Given the description of an element on the screen output the (x, y) to click on. 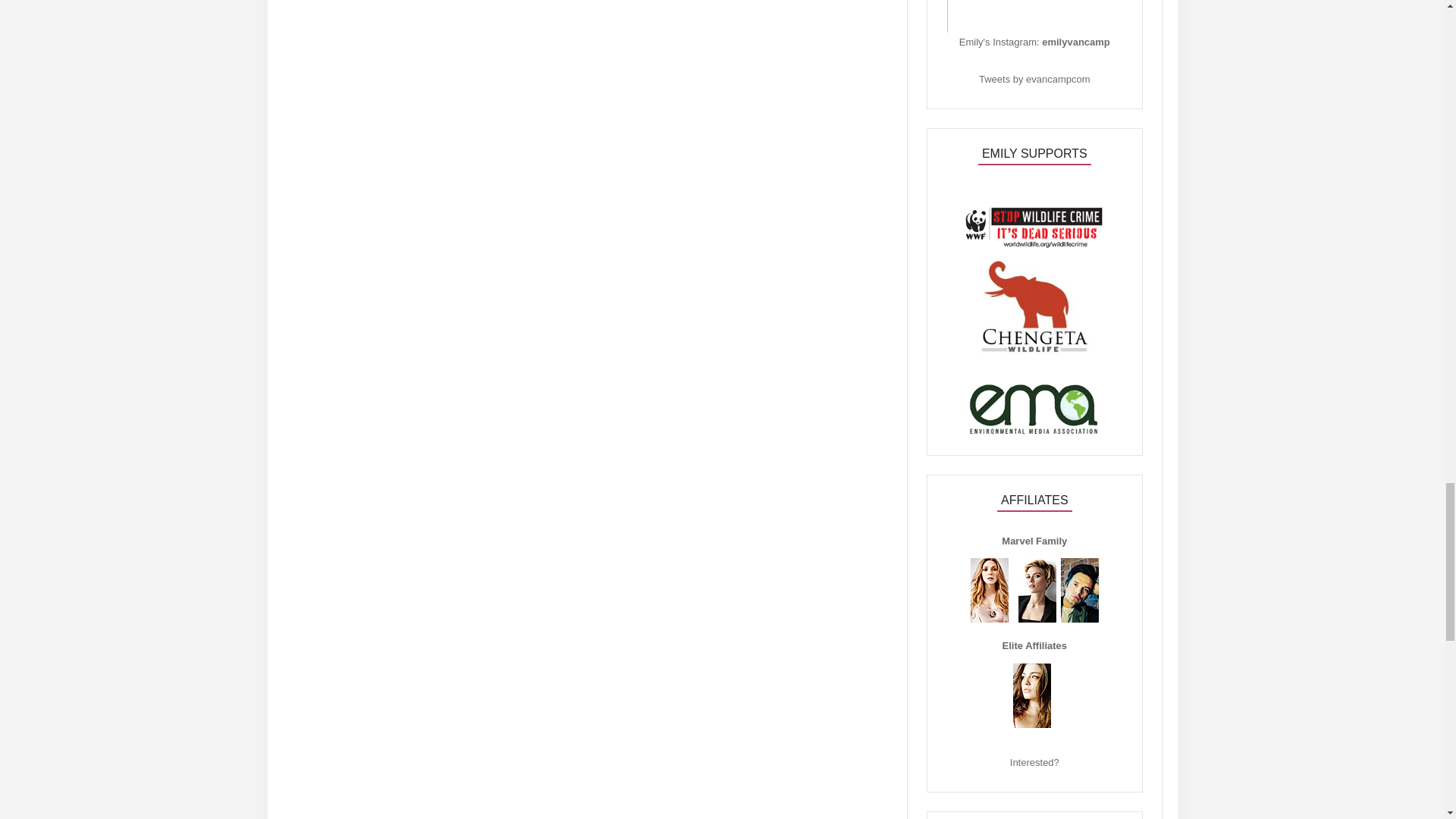
Interested? (1034, 762)
Tweets by evancampcom (1034, 79)
World Wildlife Fund (1033, 276)
Environmental Media Association (1033, 432)
emilyvancamp (1075, 41)
Chengeta Wildlife (1033, 360)
